Given the description of an element on the screen output the (x, y) to click on. 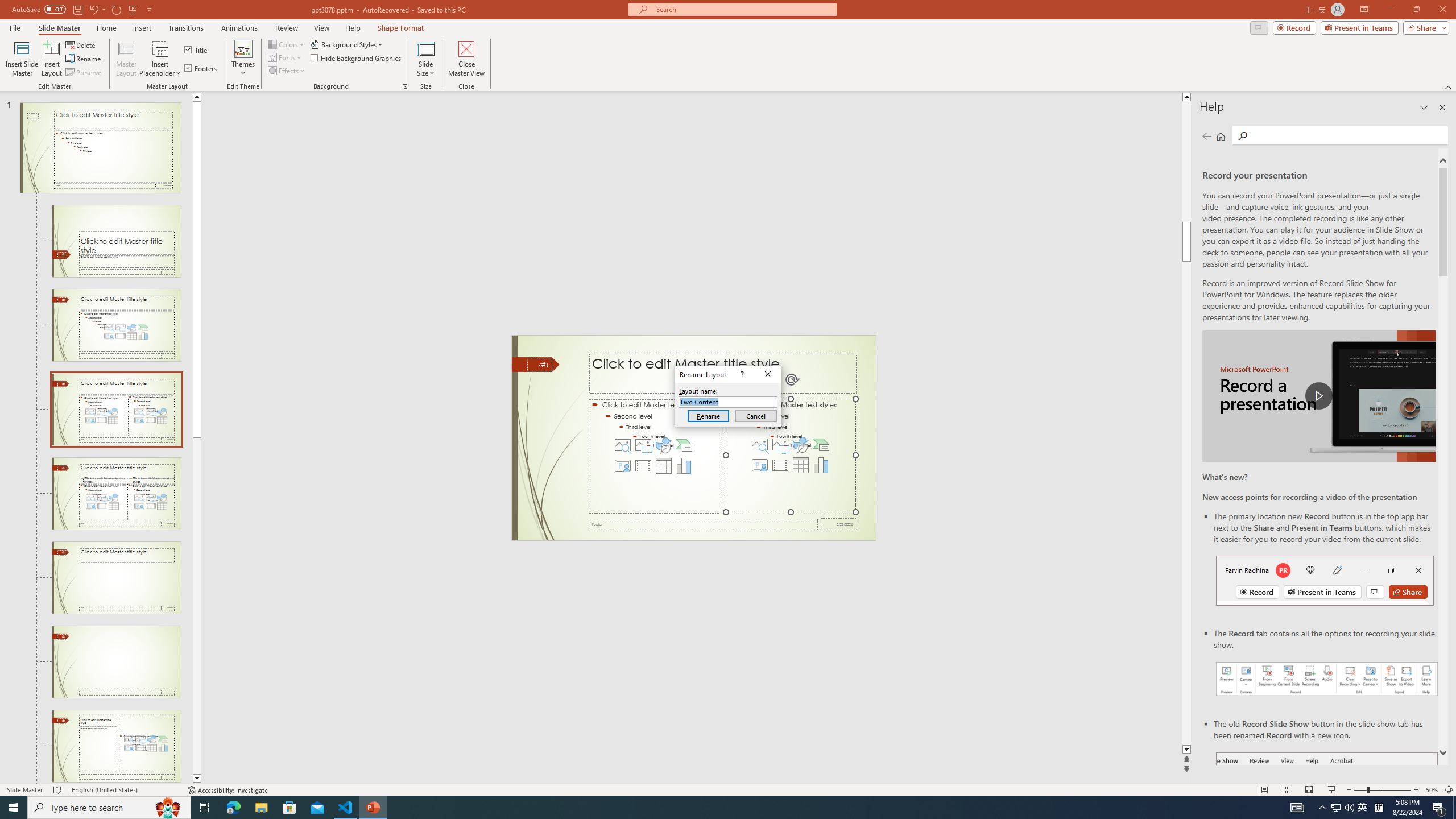
Stock Images (759, 444)
Format Background... (404, 85)
Slide Comparison Layout: used by no slides (116, 577)
Slide Wisp Slide Master: used by slide(s) 1 (100, 147)
Insert Placeholder (160, 58)
Pictures (780, 444)
Slide Title and Content Layout: used by no slides (116, 325)
